Given the description of an element on the screen output the (x, y) to click on. 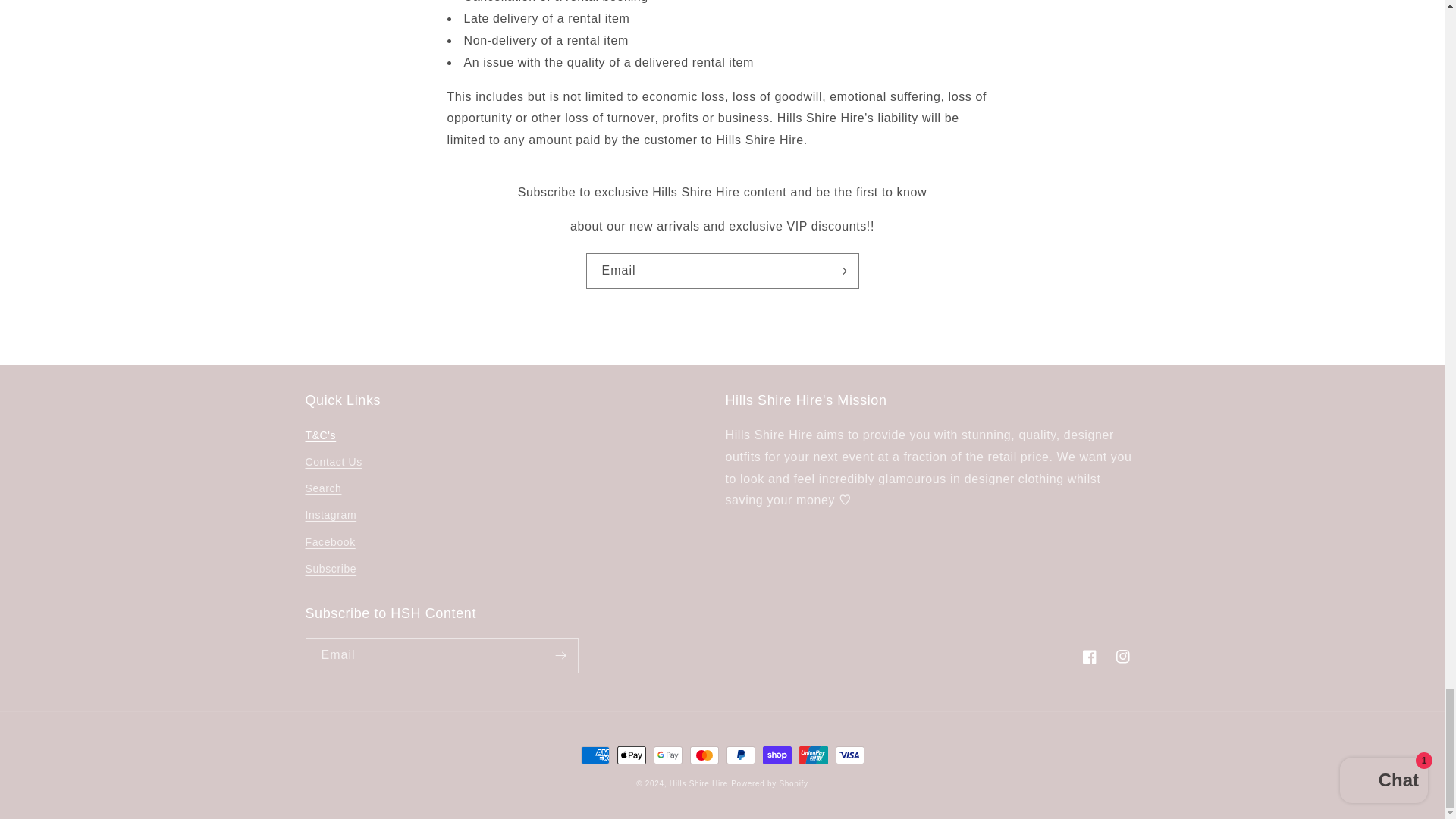
Facebook (329, 542)
Contact Us (332, 461)
Instagram (330, 515)
Subscribe (330, 569)
Search (322, 488)
